Given the description of an element on the screen output the (x, y) to click on. 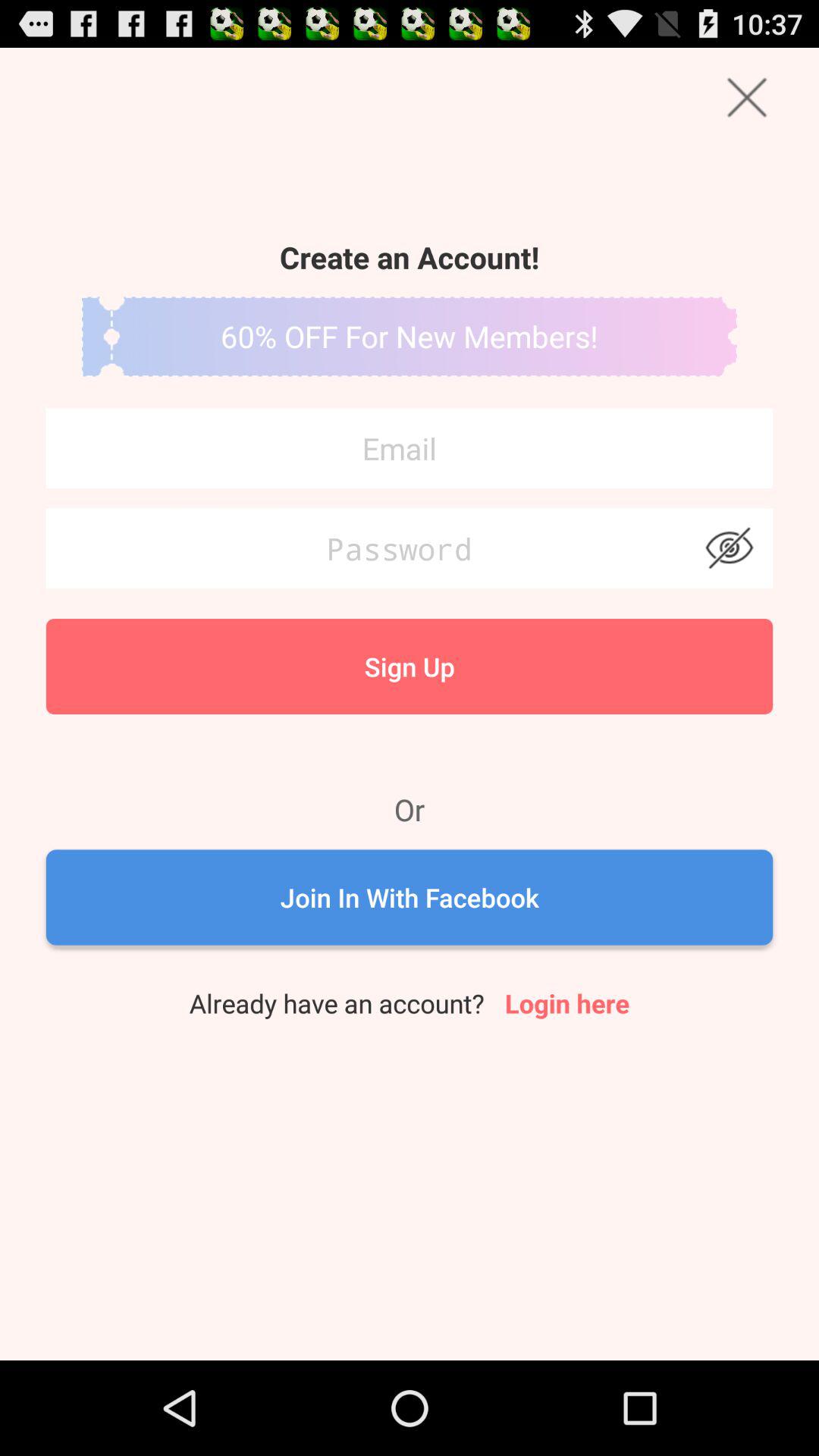
close screen (746, 97)
